Given the description of an element on the screen output the (x, y) to click on. 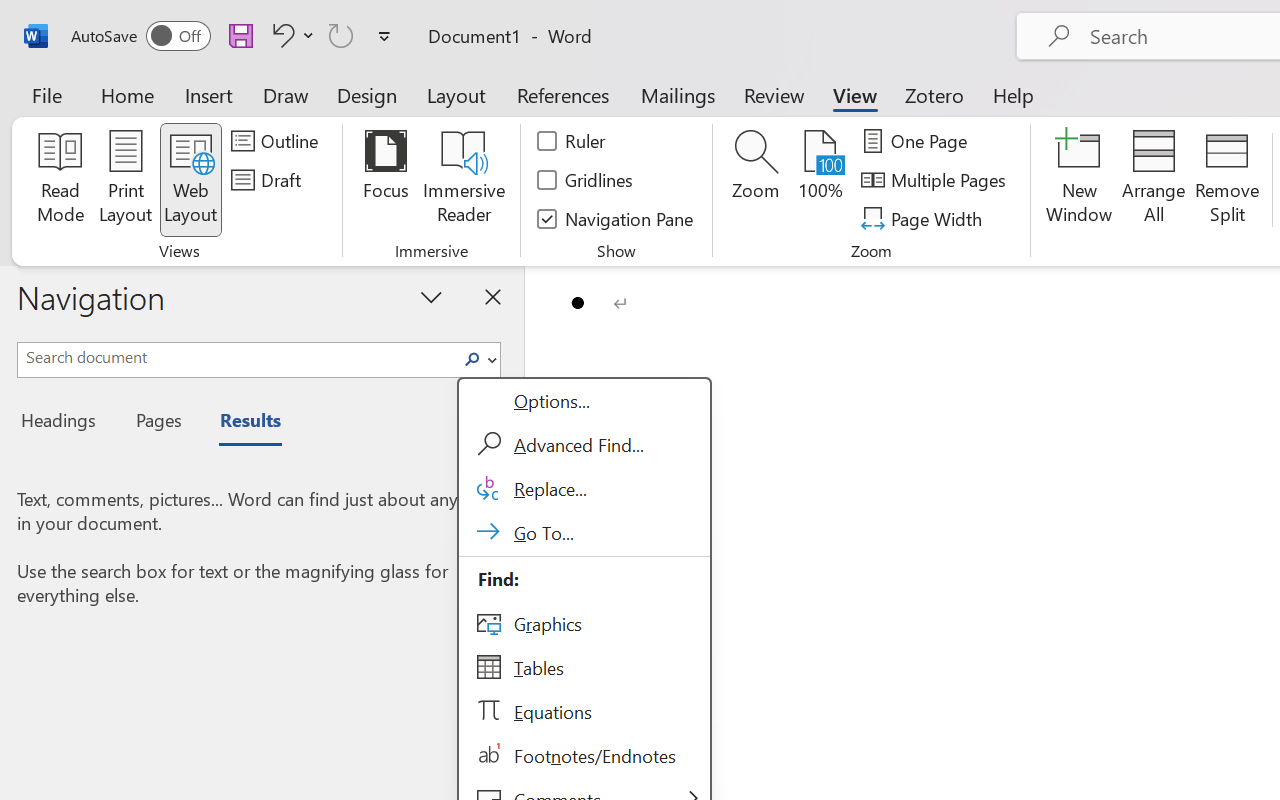
Headings (64, 423)
Outline (278, 141)
Focus (385, 179)
Navigation Pane (616, 218)
Gridlines (586, 179)
Immersive Reader (464, 179)
Can't Repeat (341, 35)
Remove Split (1227, 179)
